Given the description of an element on the screen output the (x, y) to click on. 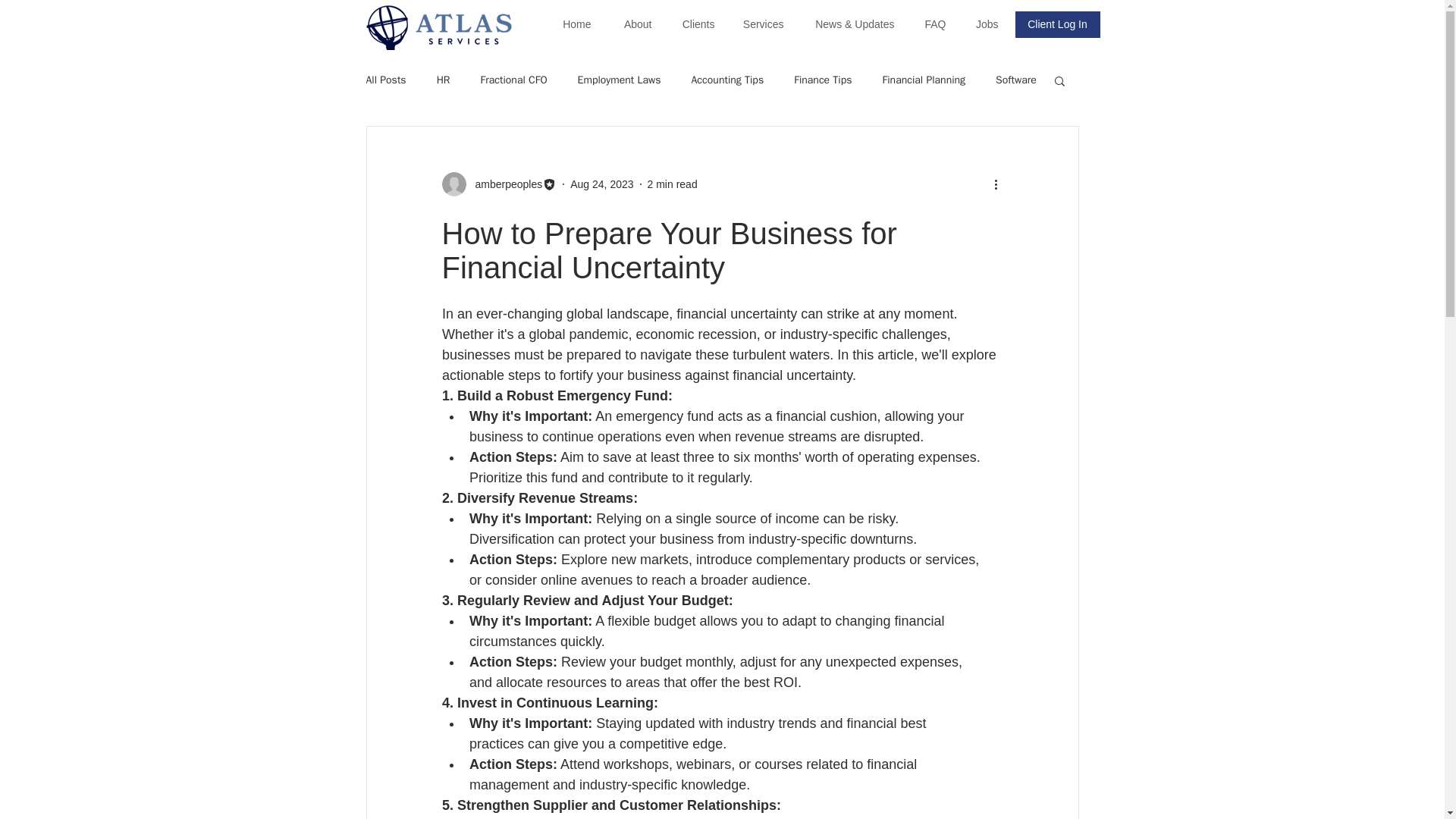
FAQ (930, 24)
Jobs (982, 24)
Client Log In (1056, 24)
amberpeoples (503, 183)
Accounting Tips (727, 79)
Fractional CFO (513, 79)
Finance Tips (822, 79)
2 min read (672, 183)
Services (760, 24)
Clients (693, 24)
Financial Planning (924, 79)
All Posts (385, 79)
About (632, 24)
amberpeoples (498, 183)
Employment Laws (619, 79)
